Given the description of an element on the screen output the (x, y) to click on. 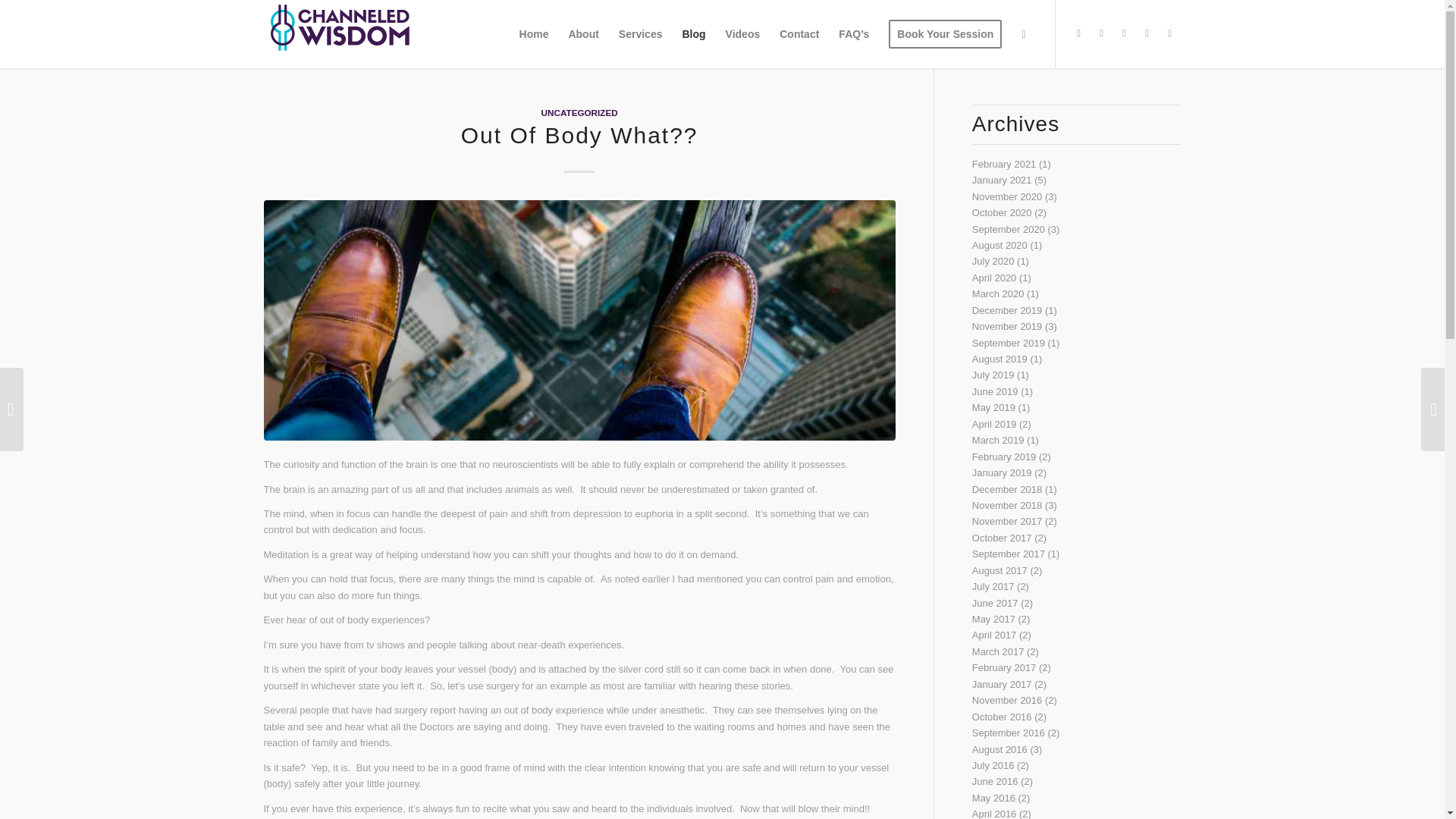
Services (640, 33)
Instagram (1146, 33)
February 2021 (1004, 163)
Youtube (1124, 33)
November 2020 (1007, 196)
logo2 (338, 27)
LinkedIn (1169, 33)
Book Your Session (945, 33)
Twitter (1078, 33)
UNCATEGORIZED (579, 112)
January 2021 (1002, 179)
Facebook (1101, 33)
